Given the description of an element on the screen output the (x, y) to click on. 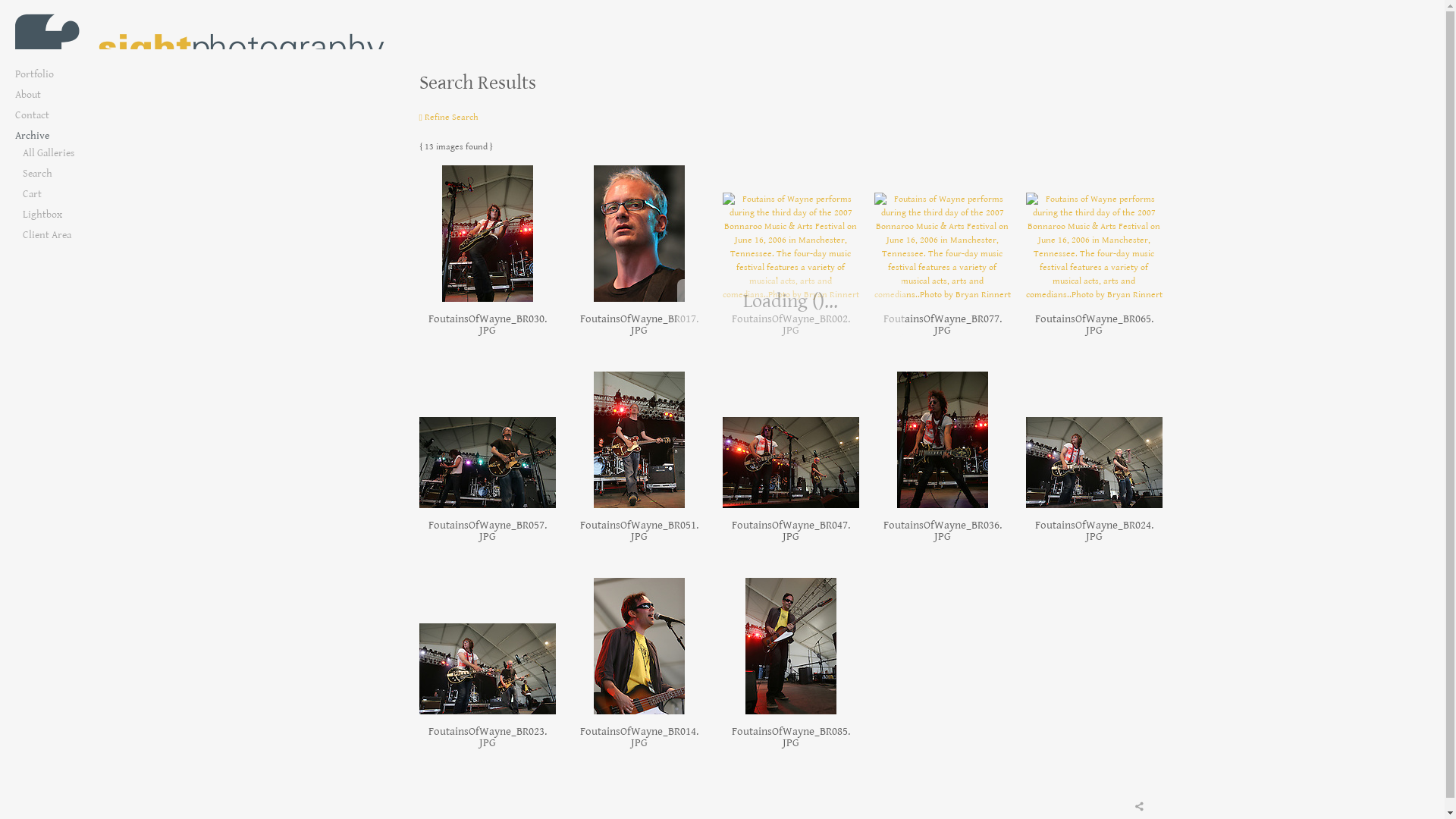
Cart Element type: text (79, 194)
FoutainsOfWayne_BR002.JPG Element type: text (790, 324)
Search Element type: text (79, 173)
Client Area Element type: text (79, 235)
FoutainsOfWayne_BR077.JPG Element type: text (941, 324)
FoutainsOfWayne_BR036.JPG Element type: text (941, 530)
FoutainsOfWayne_BR065.JPG Element type: text (1093, 324)
FoutainsOfWayne_BR085.JPG Element type: text (790, 736)
FoutainsOfWayne_BR047.JPG Element type: text (790, 530)
About Element type: text (75, 94)
3 Sight Photography Element type: text (204, 45)
All Galleries Element type: text (79, 153)
FoutainsOfWayne_BR023.JPG Element type: text (486, 736)
FoutainsOfWayne_BR030.JPG Element type: text (486, 324)
Portfolio Element type: text (75, 74)
FoutainsOfWayne_BR051.JPG Element type: text (638, 530)
FoutainsOfWayne_BR057.JPG Element type: text (486, 530)
FoutainsOfWayne_BR014.JPG Element type: text (638, 736)
Refine Search Element type: text (447, 117)
Lightbox Element type: text (79, 214)
Contact Element type: text (75, 115)
FoutainsOfWayne_BR024.JPG Element type: text (1093, 530)
FoutainsOfWayne_BR017.JPG Element type: text (638, 324)
